Given the description of an element on the screen output the (x, y) to click on. 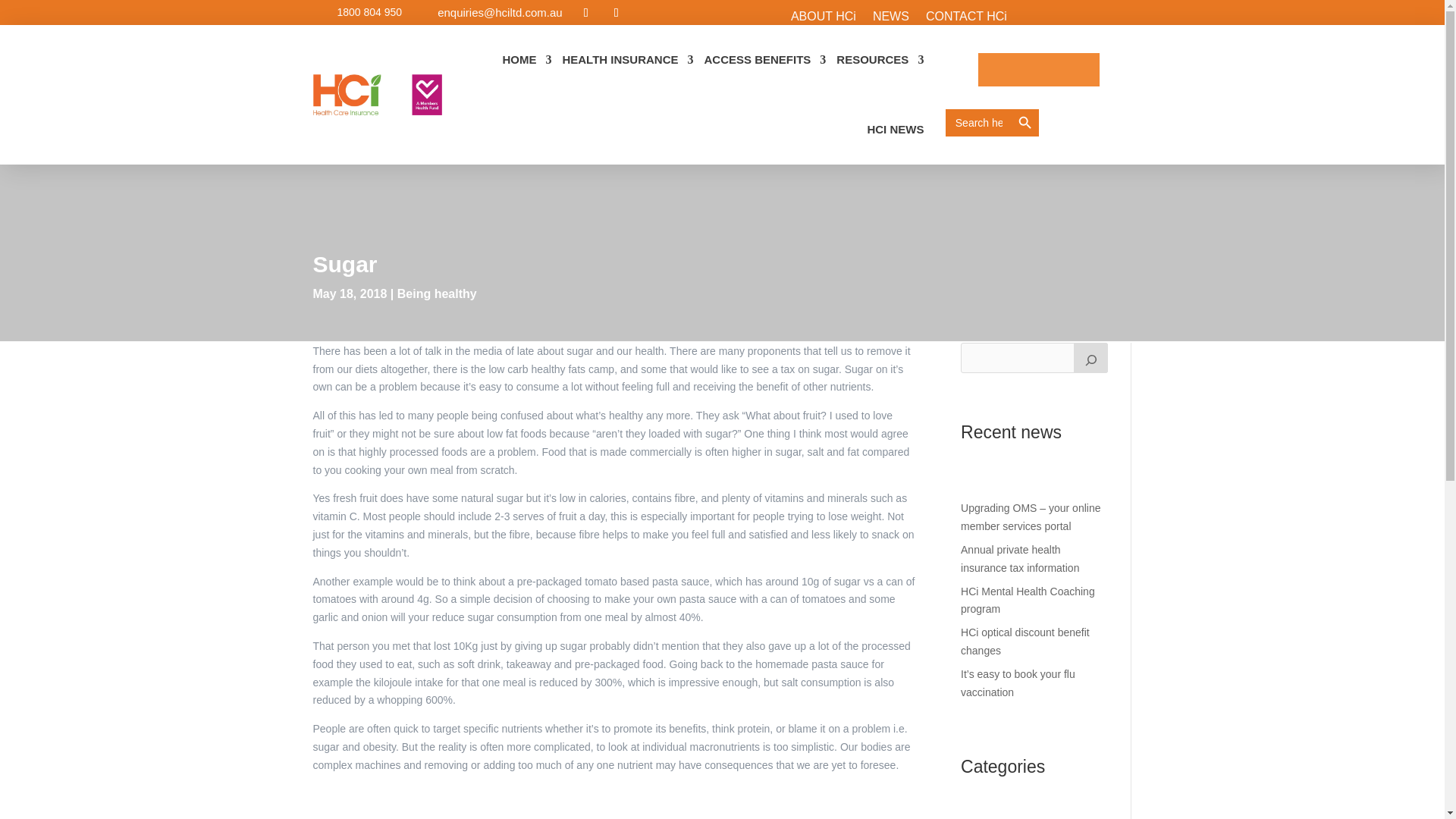
NEWS (890, 16)
Follow on Instagram (616, 12)
1800 804 950 (368, 11)
HCi OMS login (1038, 69)
ABOUT HCi (823, 16)
ACCESS BENEFITS (764, 60)
HEALTH INSURANCE (627, 60)
Follow on Facebook (585, 12)
RESOURCES (879, 60)
CONTACT HCi (966, 16)
